Given the description of an element on the screen output the (x, y) to click on. 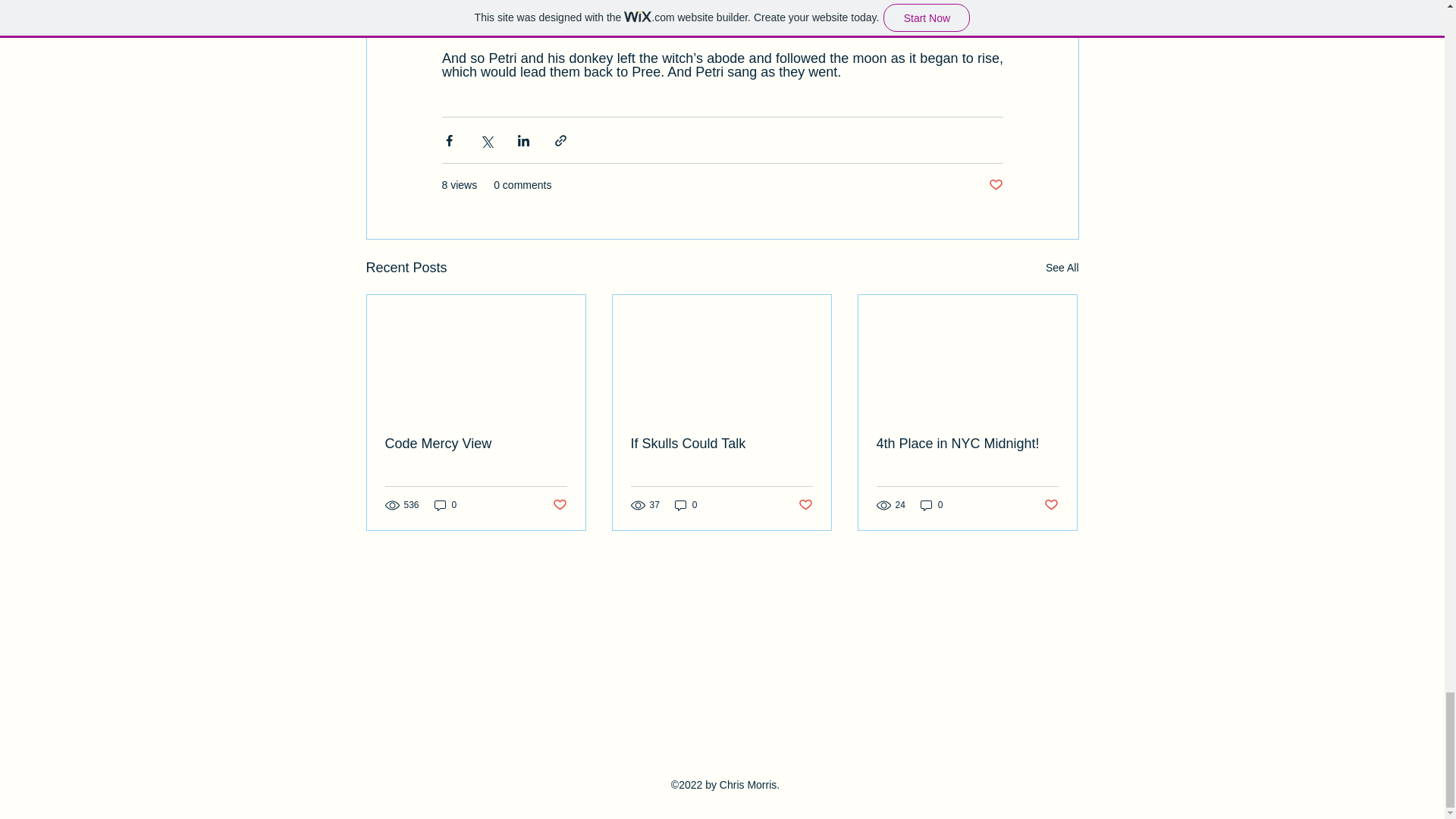
Code Mercy View (476, 443)
If Skulls Could Talk (721, 443)
See All (1061, 268)
0 (931, 504)
4th Place in NYC Midnight! (967, 443)
0 (685, 504)
Post not marked as liked (804, 505)
0 (445, 504)
Post not marked as liked (1050, 505)
Post not marked as liked (558, 505)
Post not marked as liked (995, 185)
